Given the description of an element on the screen output the (x, y) to click on. 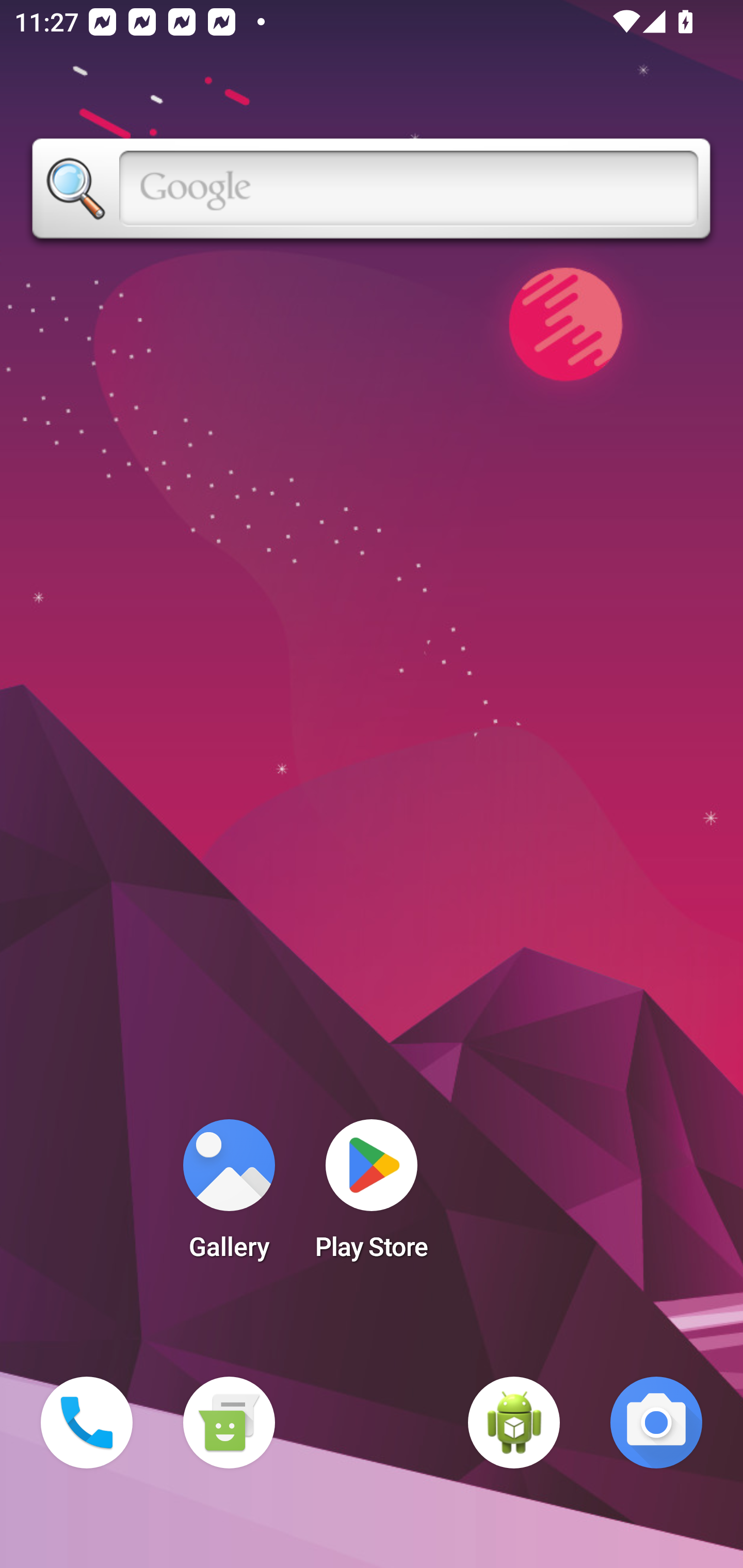
Gallery (228, 1195)
Play Store (371, 1195)
Phone (86, 1422)
Messaging (228, 1422)
WebView Browser Tester (513, 1422)
Camera (656, 1422)
